Given the description of an element on the screen output the (x, y) to click on. 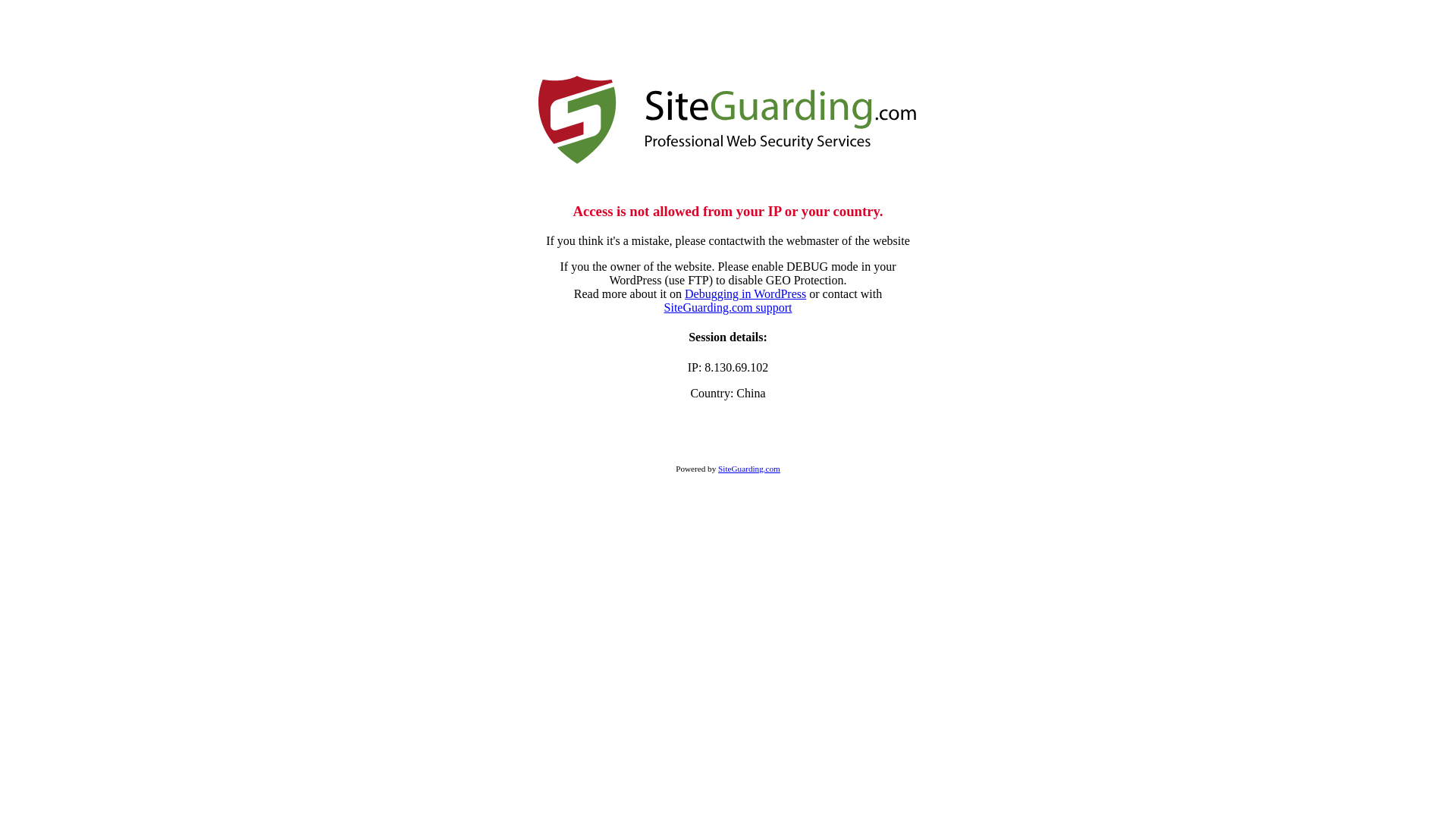
SiteGuarding.com Element type: text (749, 468)
Debugging in WordPress Element type: text (745, 293)
SiteGuarding.com support Element type: text (728, 307)
